Given the description of an element on the screen output the (x, y) to click on. 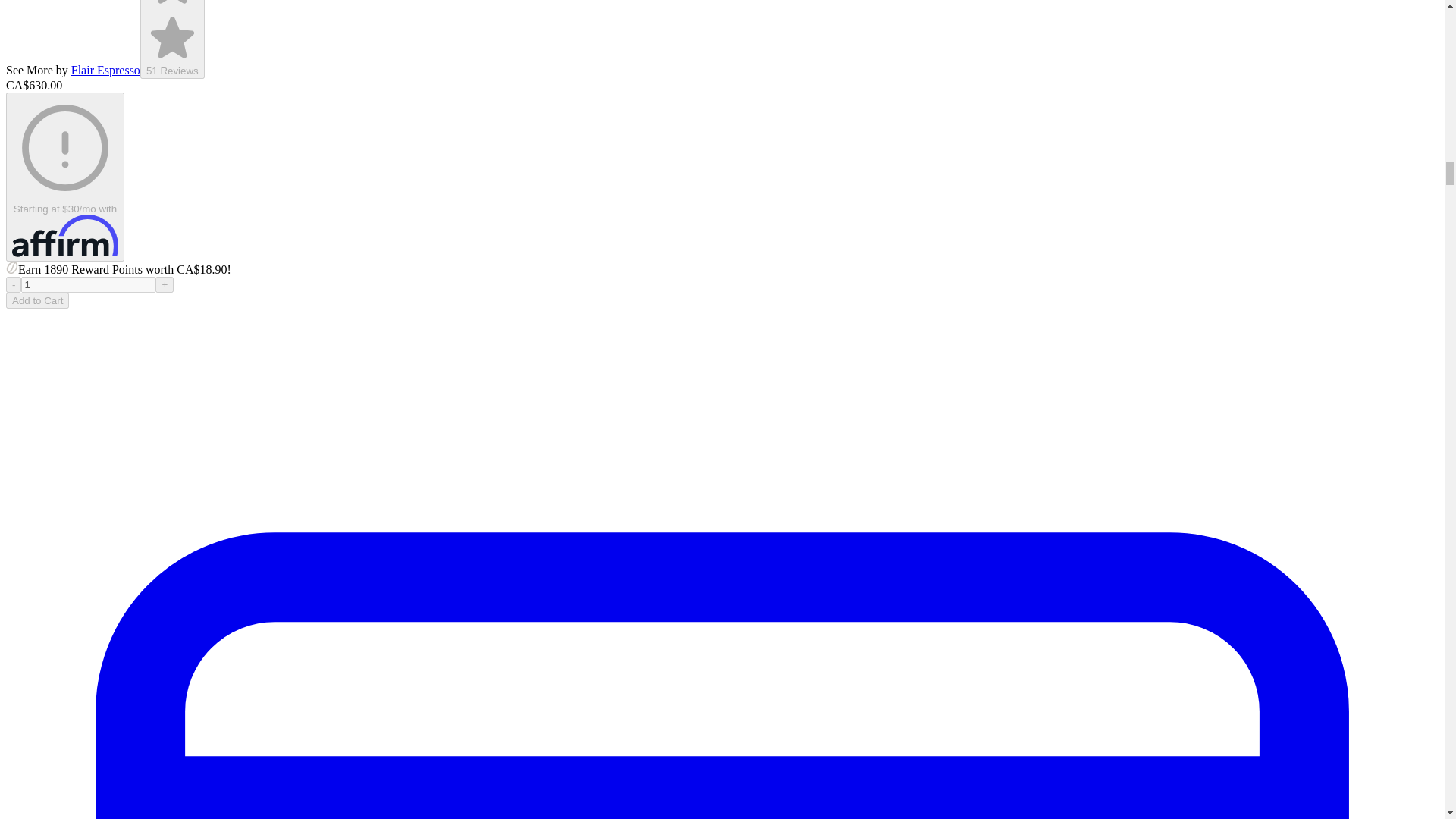
1 (88, 284)
